Given the description of an element on the screen output the (x, y) to click on. 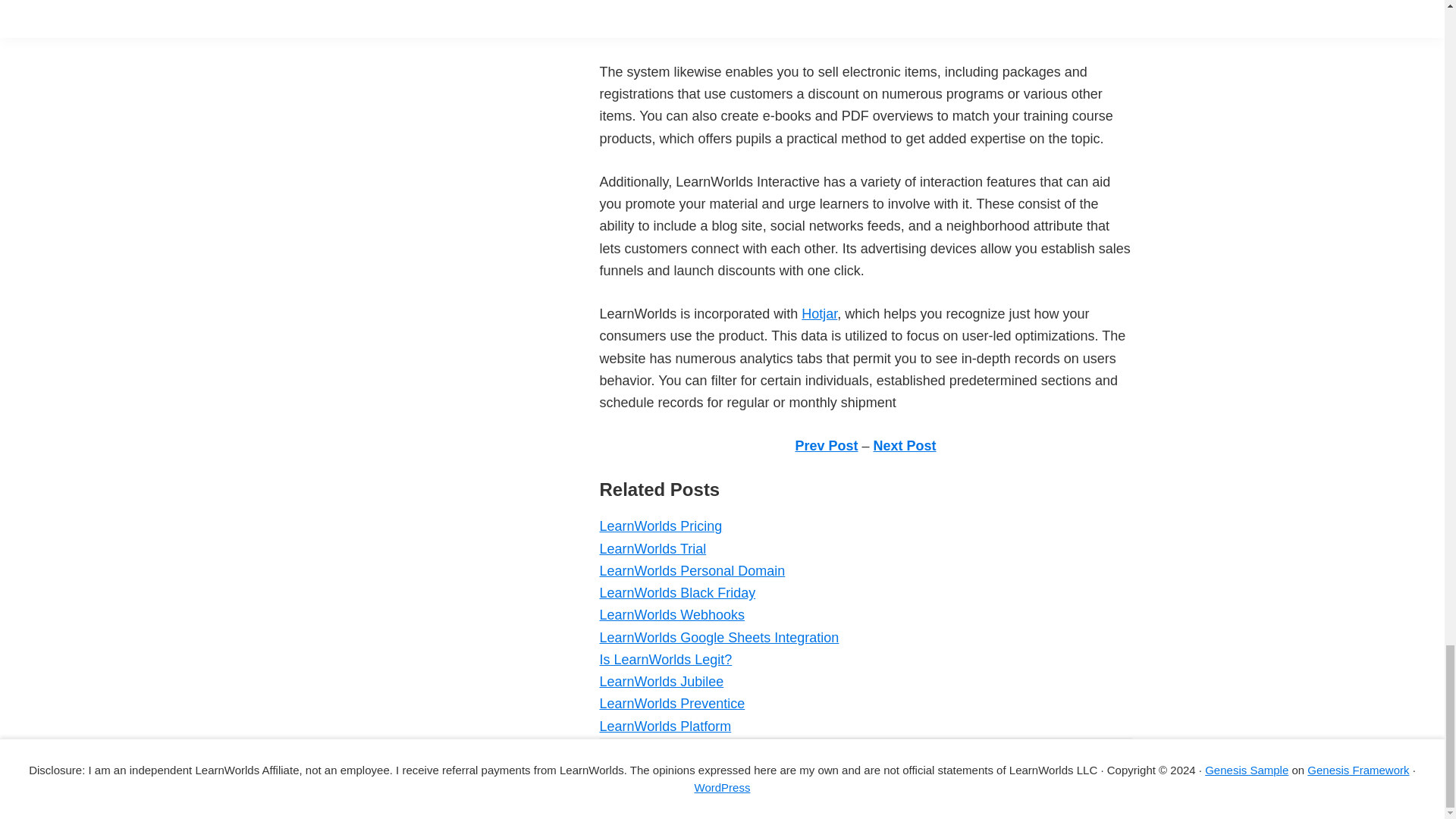
LearnWorlds Platform (664, 726)
LearnWorlds Pricing (660, 525)
Hotjar (819, 313)
Is LearnWorlds Legit? (665, 659)
LearnWorlds Webhooks (671, 614)
Prev Post (825, 445)
Is LearnWorlds Legit? (665, 659)
LearnWorlds Jubilee (660, 681)
LearnWorlds Webhooks (671, 614)
LearnWorlds Jubilee (660, 681)
